Given the description of an element on the screen output the (x, y) to click on. 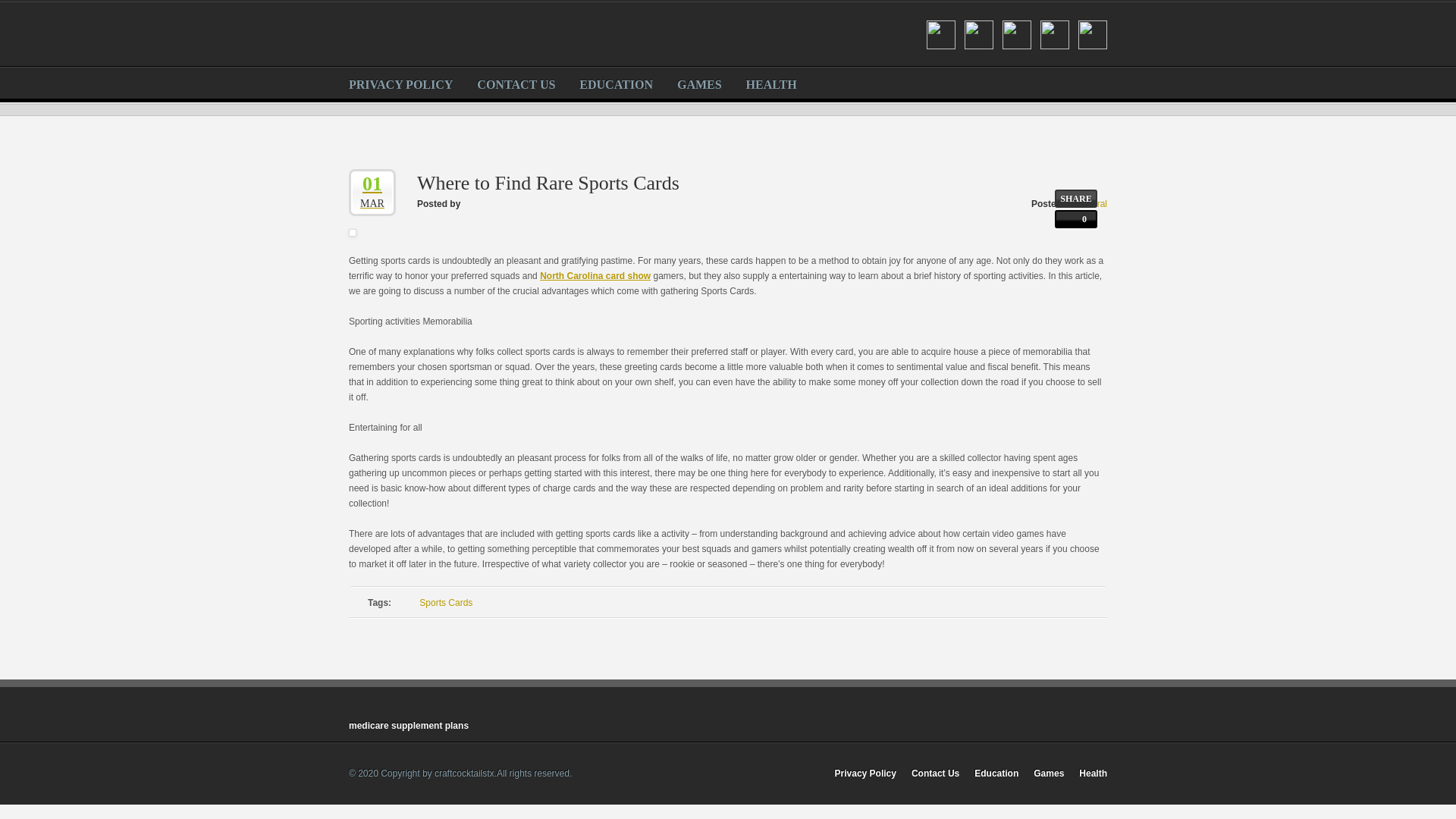
Health (1092, 773)
Contact Us (935, 773)
EDUCATION (615, 82)
SHARE (1075, 198)
Privacy Policy (865, 773)
General (1090, 204)
Education (995, 773)
CONTACT US (514, 82)
Sports Cards (445, 602)
Games (1048, 773)
